Given the description of an element on the screen output the (x, y) to click on. 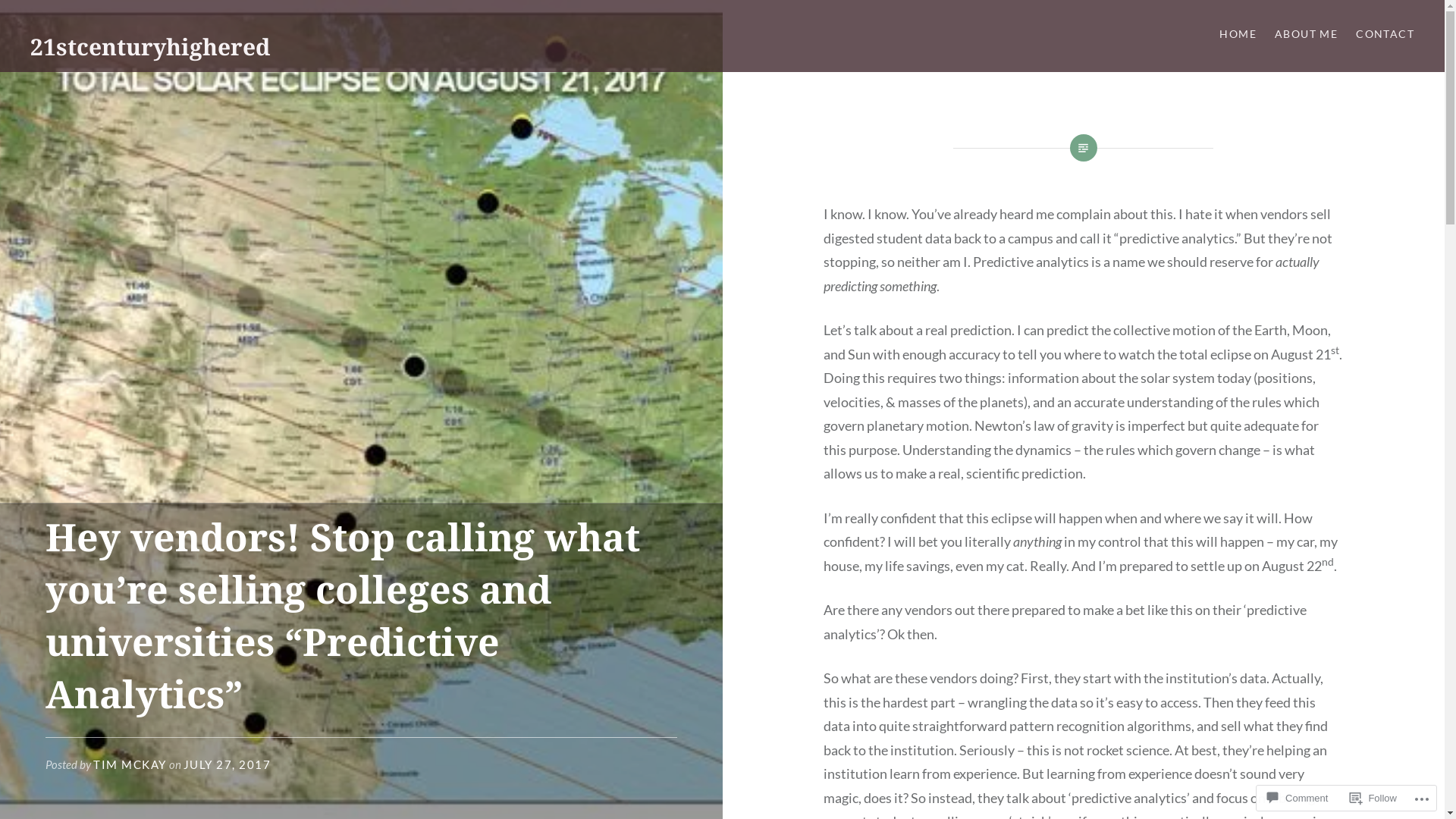
JULY 27, 2017 Element type: text (227, 764)
CONTACT Element type: text (1384, 34)
Follow Element type: text (1372, 797)
HOME Element type: text (1237, 34)
TIM MCKAY Element type: text (129, 764)
21stcenturyhighered Element type: text (149, 46)
Comment Element type: text (1297, 797)
ABOUT ME Element type: text (1305, 34)
Search Element type: text (141, 19)
